Given the description of an element on the screen output the (x, y) to click on. 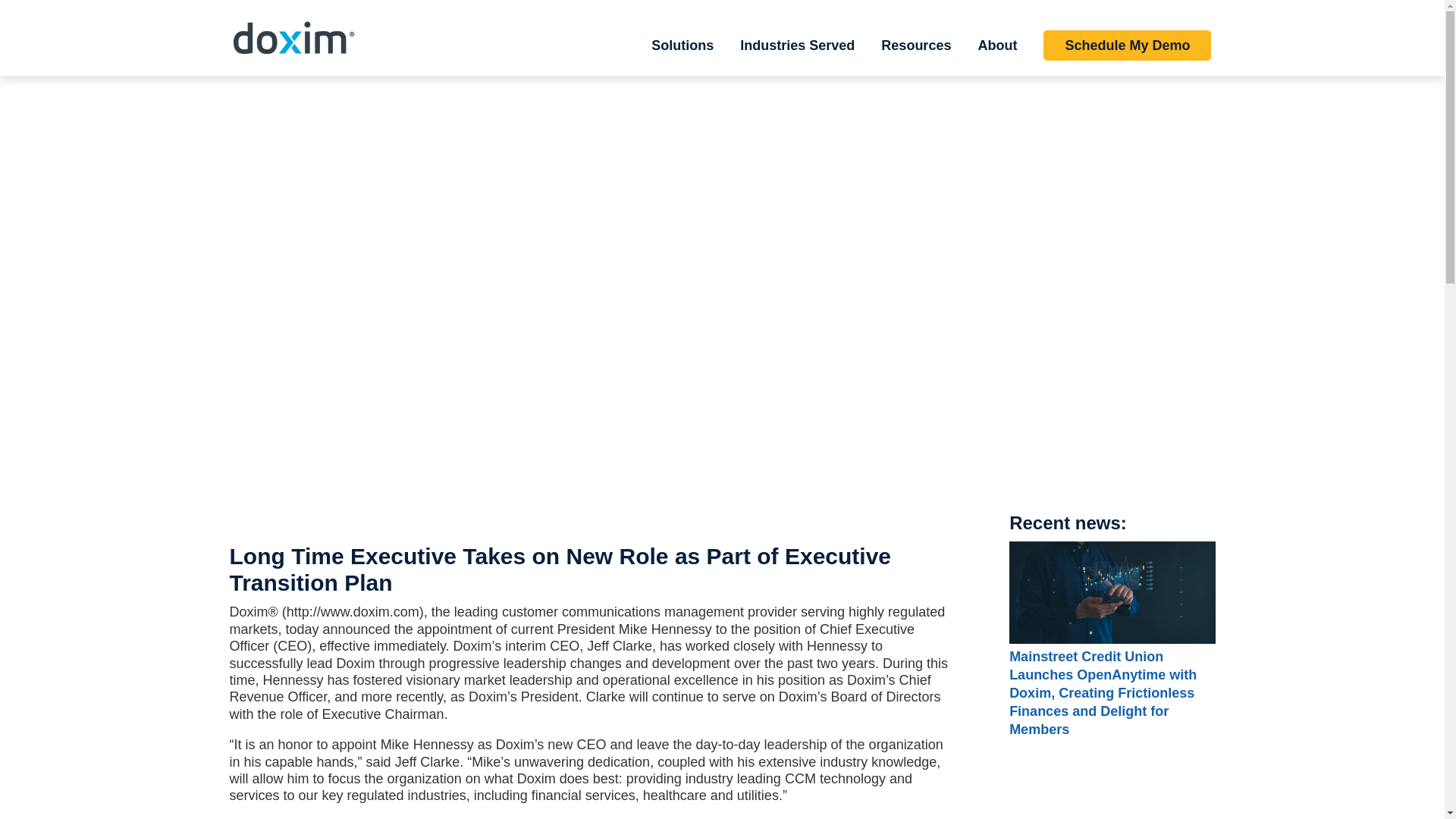
Solutions (681, 58)
About (996, 58)
Industries Served (796, 58)
Resources (915, 58)
